Given the description of an element on the screen output the (x, y) to click on. 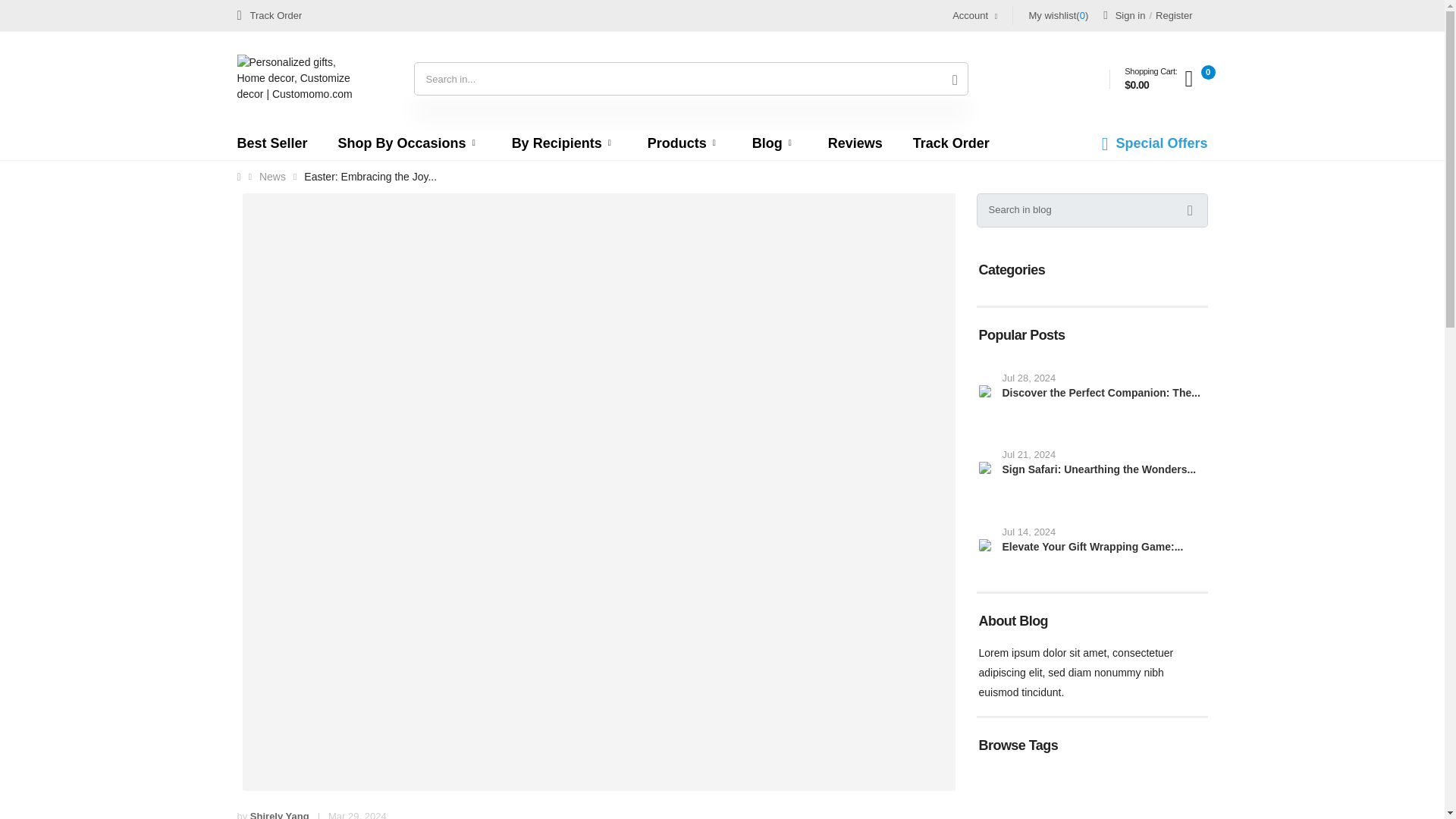
Track Order (268, 15)
Shop By Occasions (409, 142)
Register (1174, 15)
Sign in (1123, 15)
By Recipients (564, 142)
Best Seller (271, 142)
Products (684, 142)
Contact (268, 15)
